Given the description of an element on the screen output the (x, y) to click on. 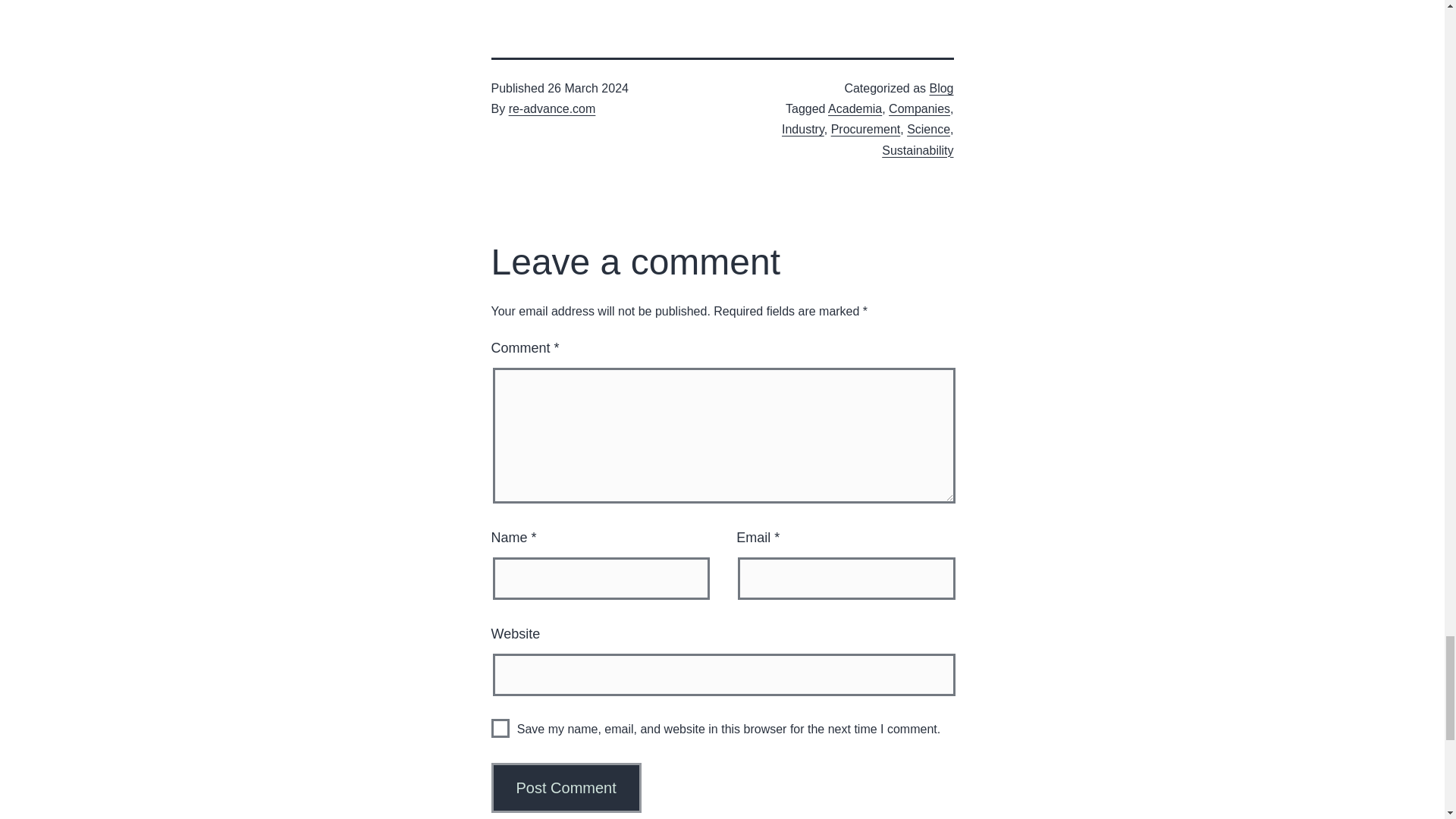
re-advance.com (551, 108)
Science (928, 128)
Post Comment (567, 787)
Sustainability (917, 150)
Academia (855, 108)
Procurement (866, 128)
Industry (802, 128)
Post Comment (567, 787)
Blog (940, 88)
Companies (919, 108)
